Given the description of an element on the screen output the (x, y) to click on. 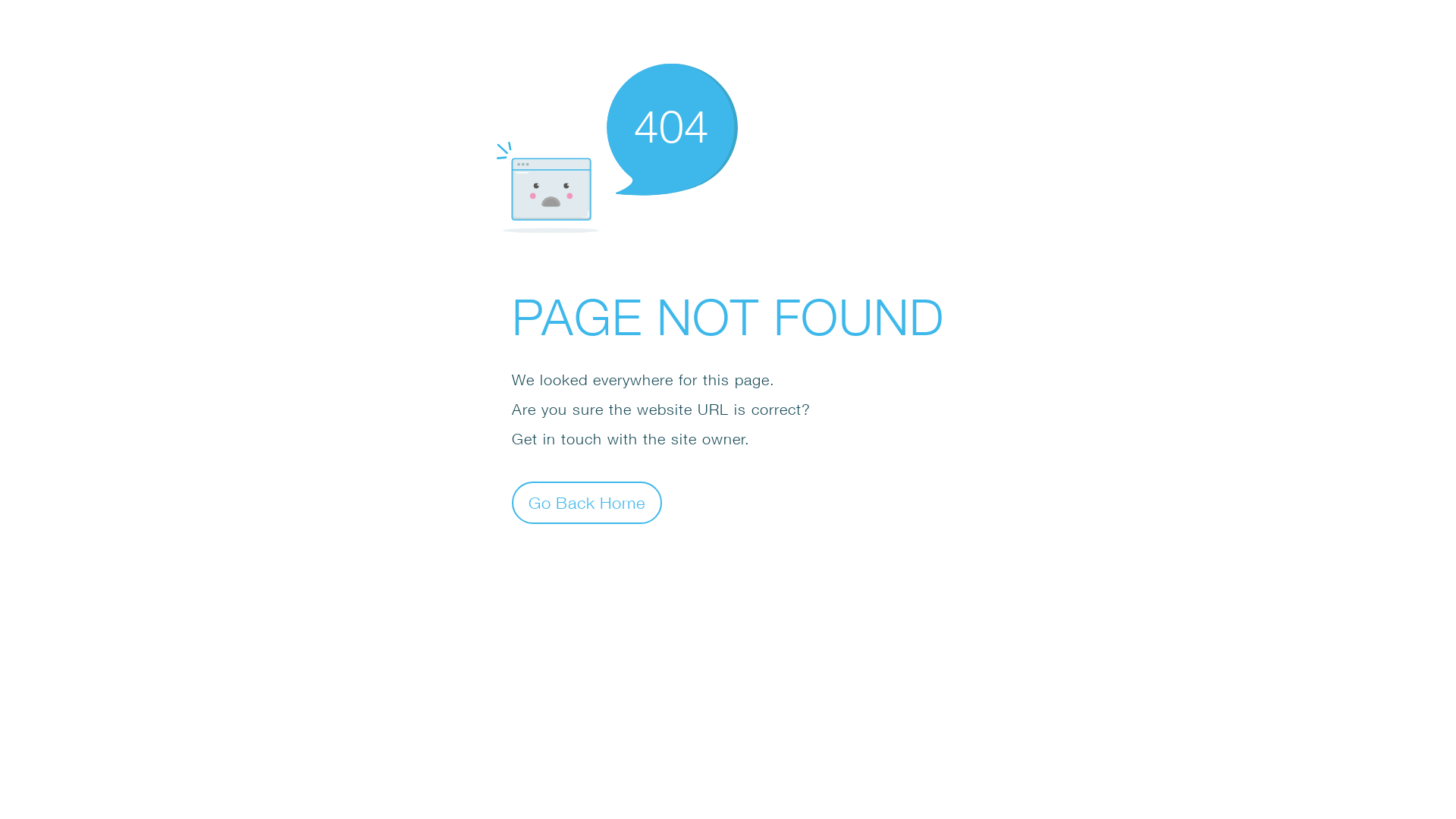
Go Back Home Element type: text (586, 502)
